Given the description of an element on the screen output the (x, y) to click on. 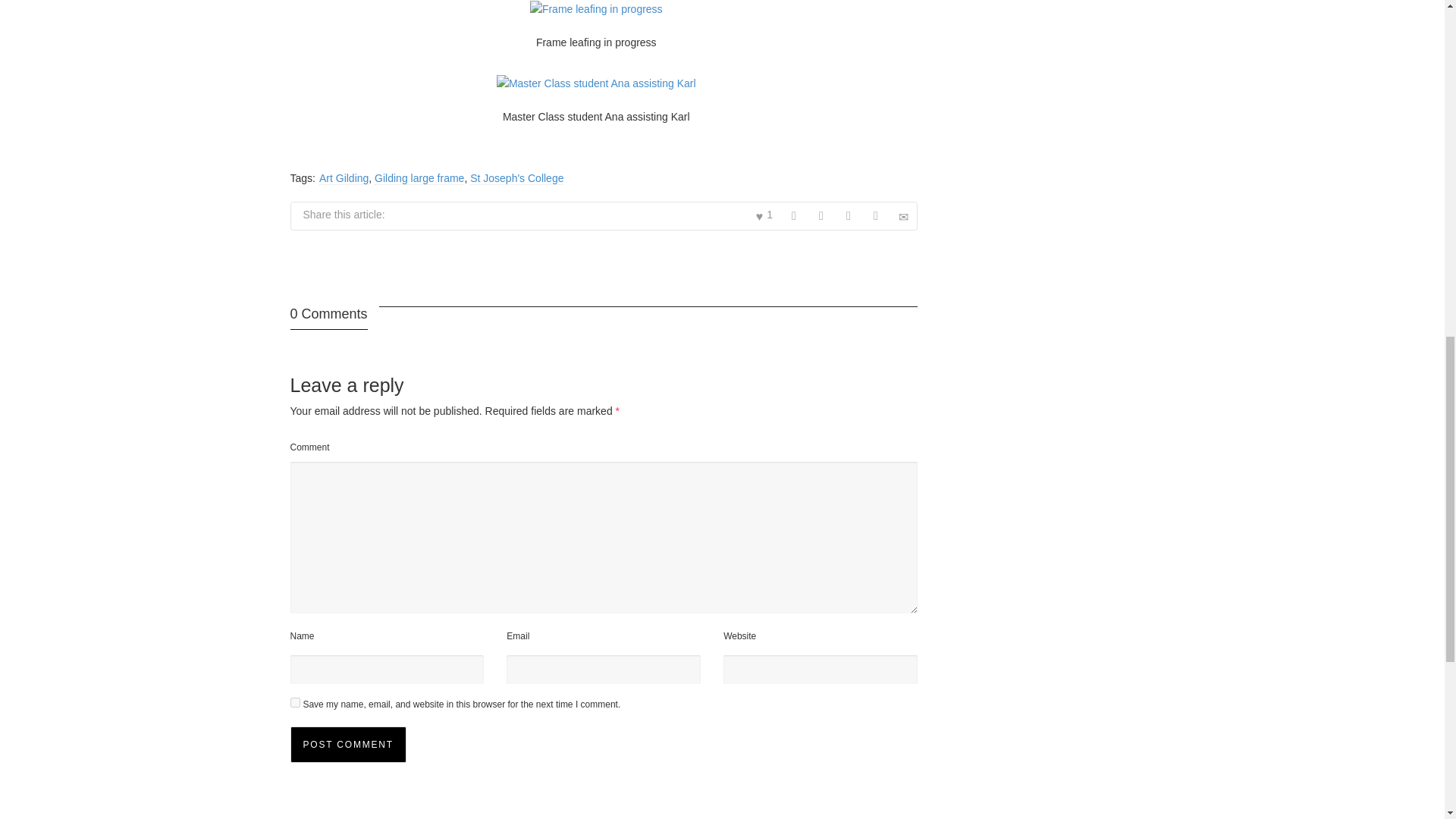
Frame leafing in progress (595, 9)
Master Class student Ana assisting Karl (595, 84)
yes (294, 702)
Post comment (347, 744)
